Given the description of an element on the screen output the (x, y) to click on. 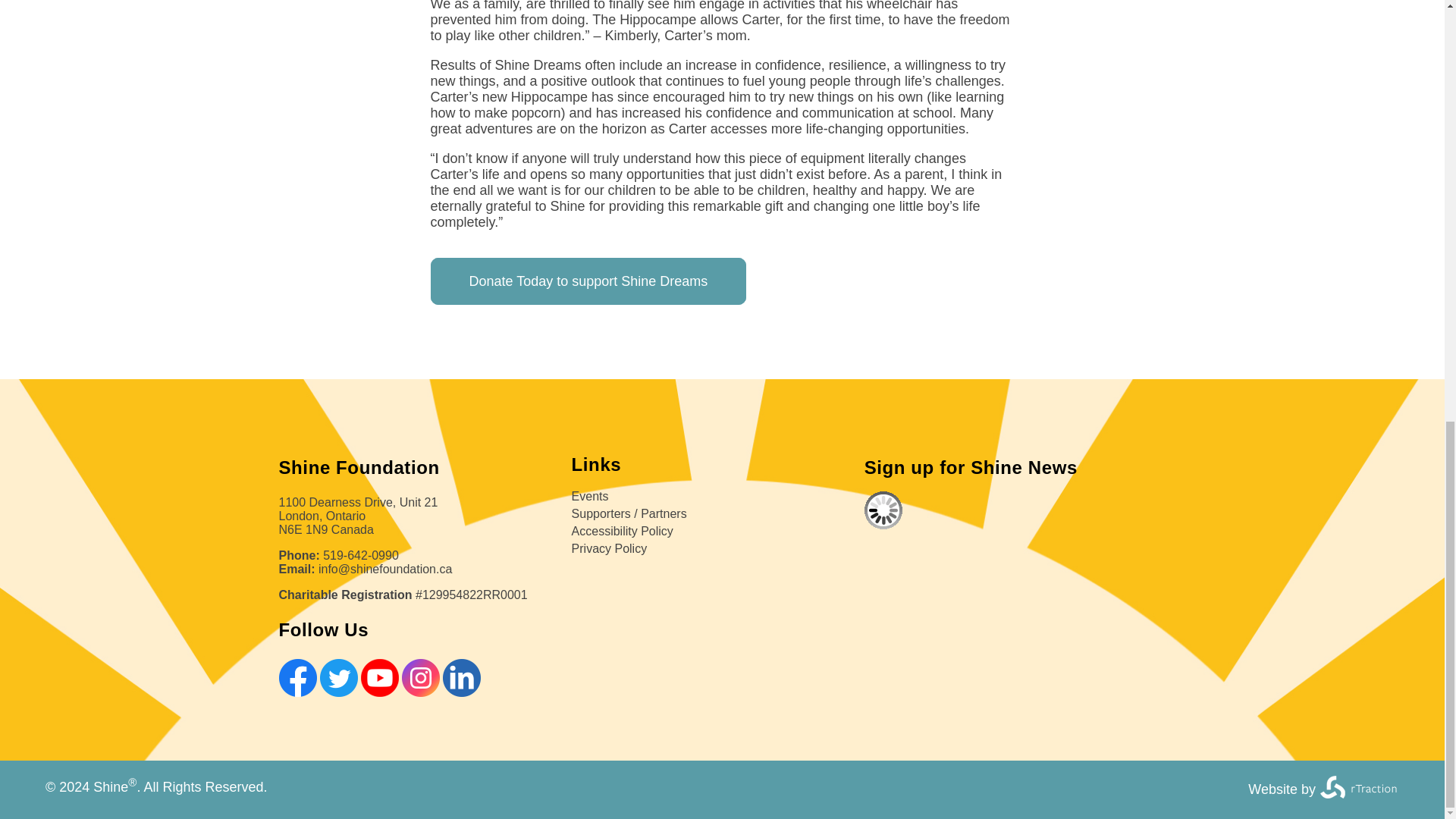
Accessibility Policy (622, 530)
Donate Today to support Shine Dreams (588, 280)
Privacy Policy (609, 548)
Events (590, 495)
